Given the description of an element on the screen output the (x, y) to click on. 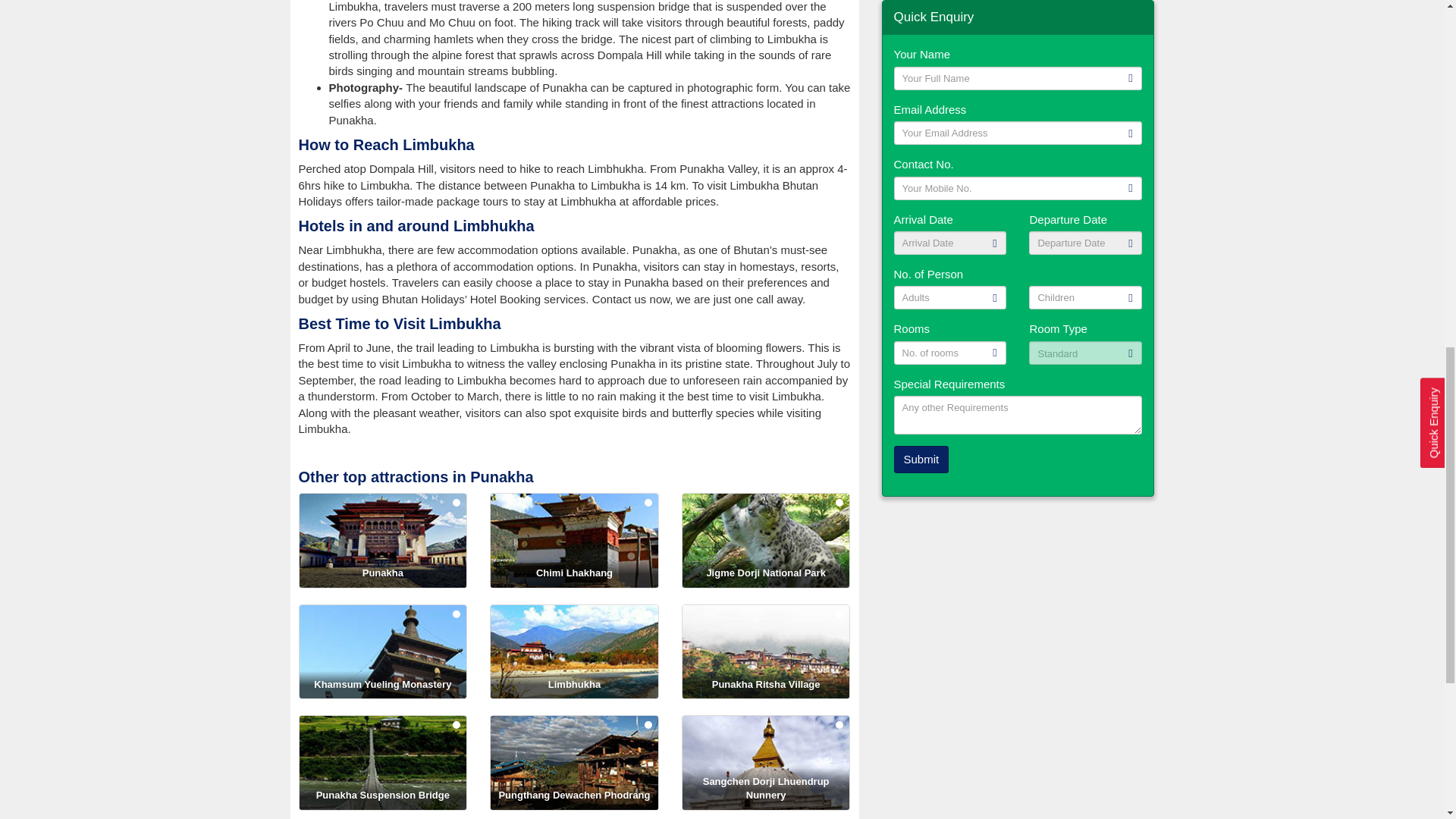
Limbhukha (574, 652)
Jigme Dorji National Park (765, 540)
Sangchen Dorji Lhuendrup Nunnery (765, 762)
Punakha (382, 540)
Punakha Ritsha Village (765, 652)
Punakha Suspension Bridge (382, 762)
Chimi Lhakhang (574, 540)
Pungthang Dewachen Phodrang (574, 762)
Khamsum Yueling Monastery (382, 652)
